Given the description of an element on the screen output the (x, y) to click on. 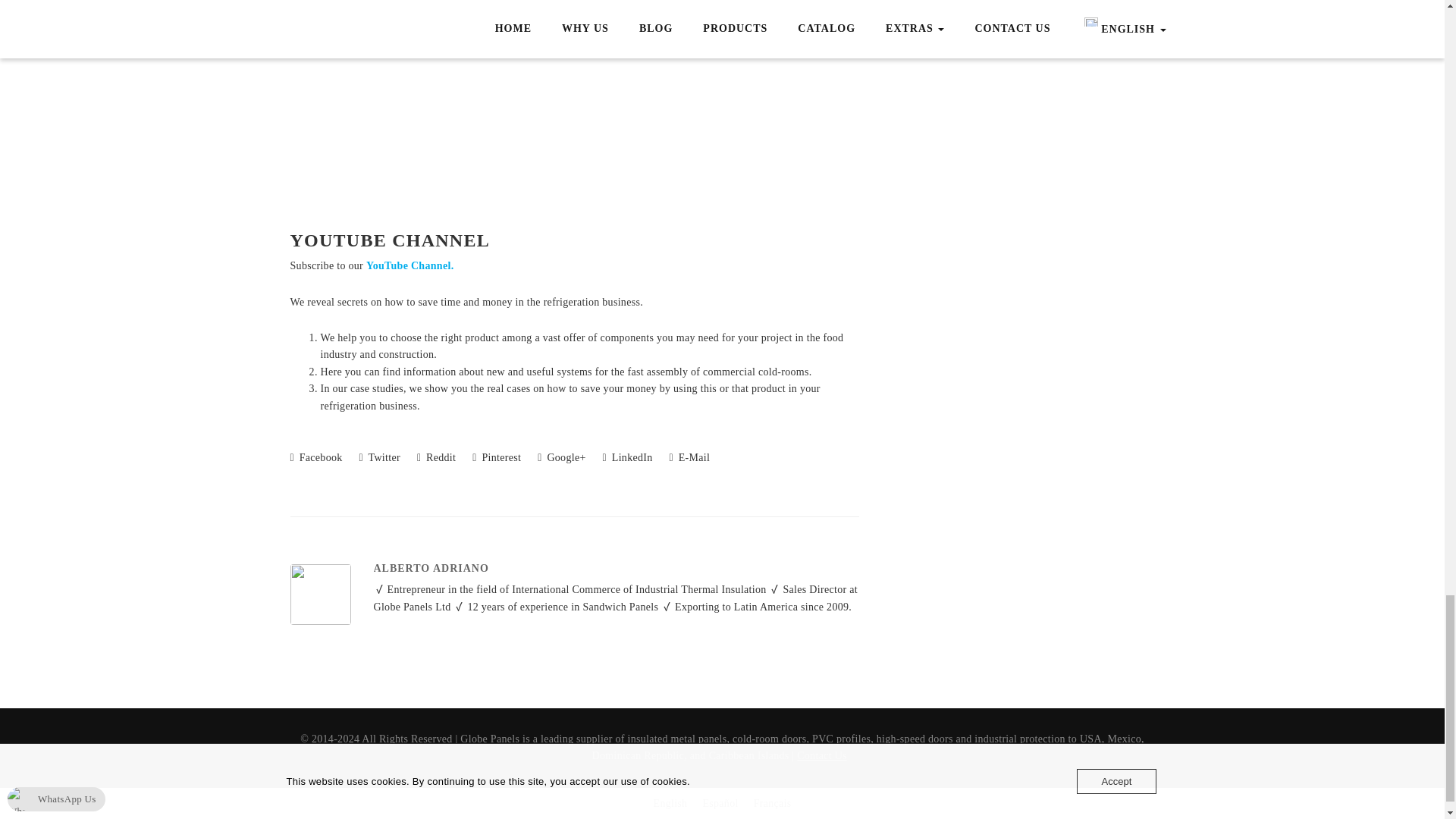
E-Mail (689, 457)
Reddit (435, 457)
LinkedIn (627, 457)
YouTube Channel. (410, 265)
Pinterest (496, 457)
Twitter (379, 457)
Facebook (315, 457)
